Given the description of an element on the screen output the (x, y) to click on. 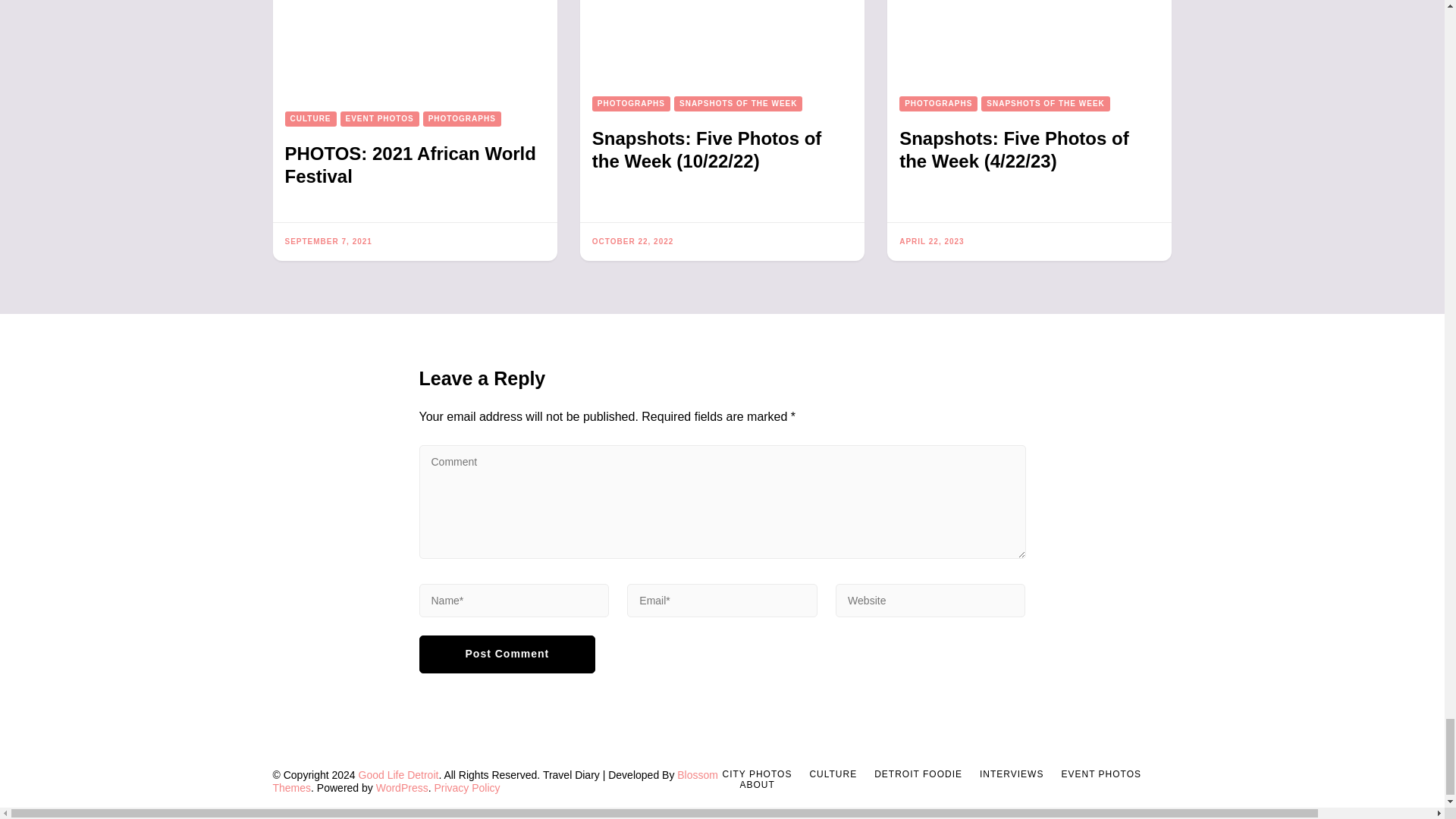
Post Comment (507, 654)
